Given the description of an element on the screen output the (x, y) to click on. 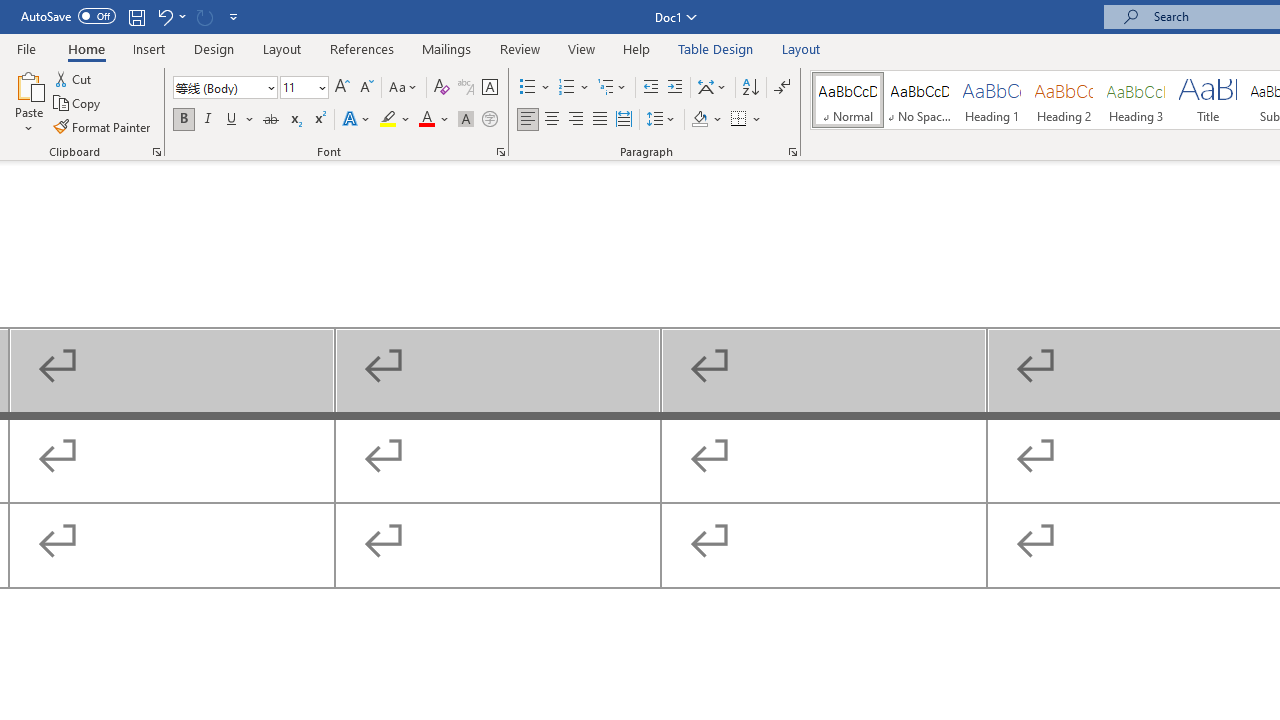
Heading 2 (1063, 100)
Shading RGB(0, 0, 0) (699, 119)
Character Border (489, 87)
Text Highlight Color (395, 119)
Heading 3 (1135, 100)
Character Shading (465, 119)
